Given the description of an element on the screen output the (x, y) to click on. 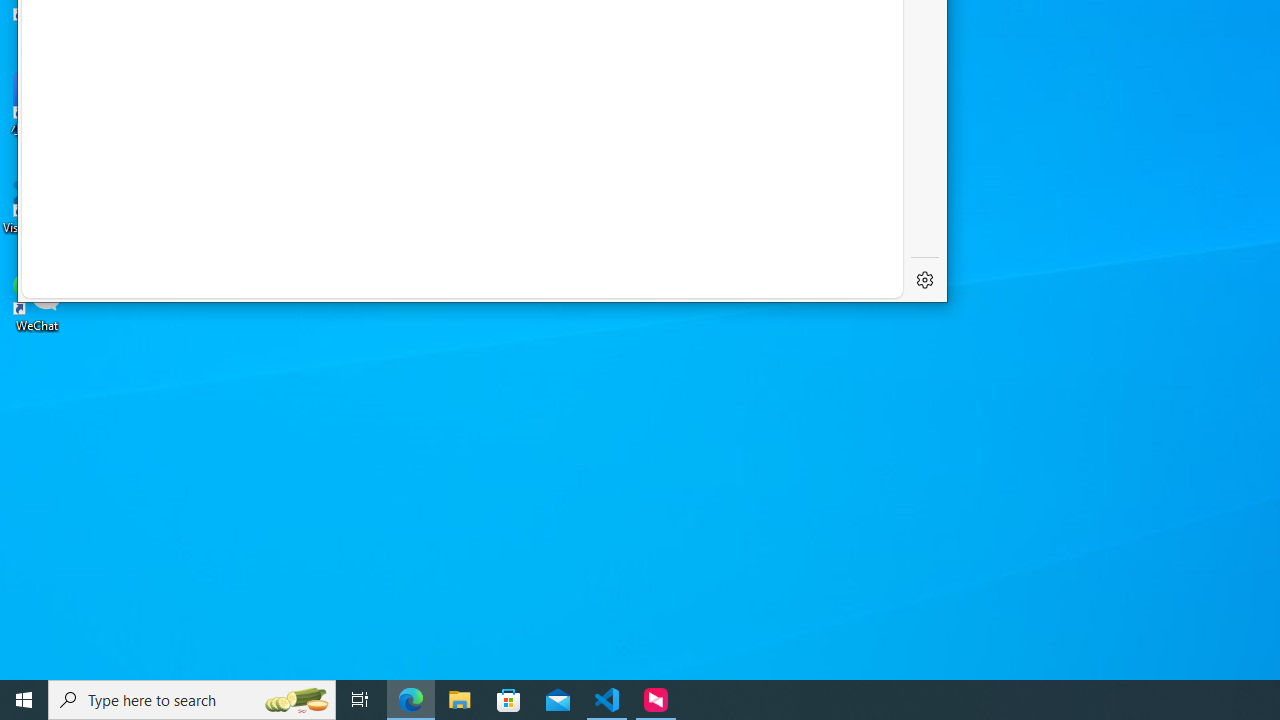
Microsoft Store (509, 699)
Visual Studio Code - 1 running window (607, 699)
Microsoft Edge - 1 running window (411, 699)
Start (24, 699)
File Explorer (460, 699)
Task View (359, 699)
Search highlights icon opens search home window (295, 699)
Type here to search (191, 699)
